Given the description of an element on the screen output the (x, y) to click on. 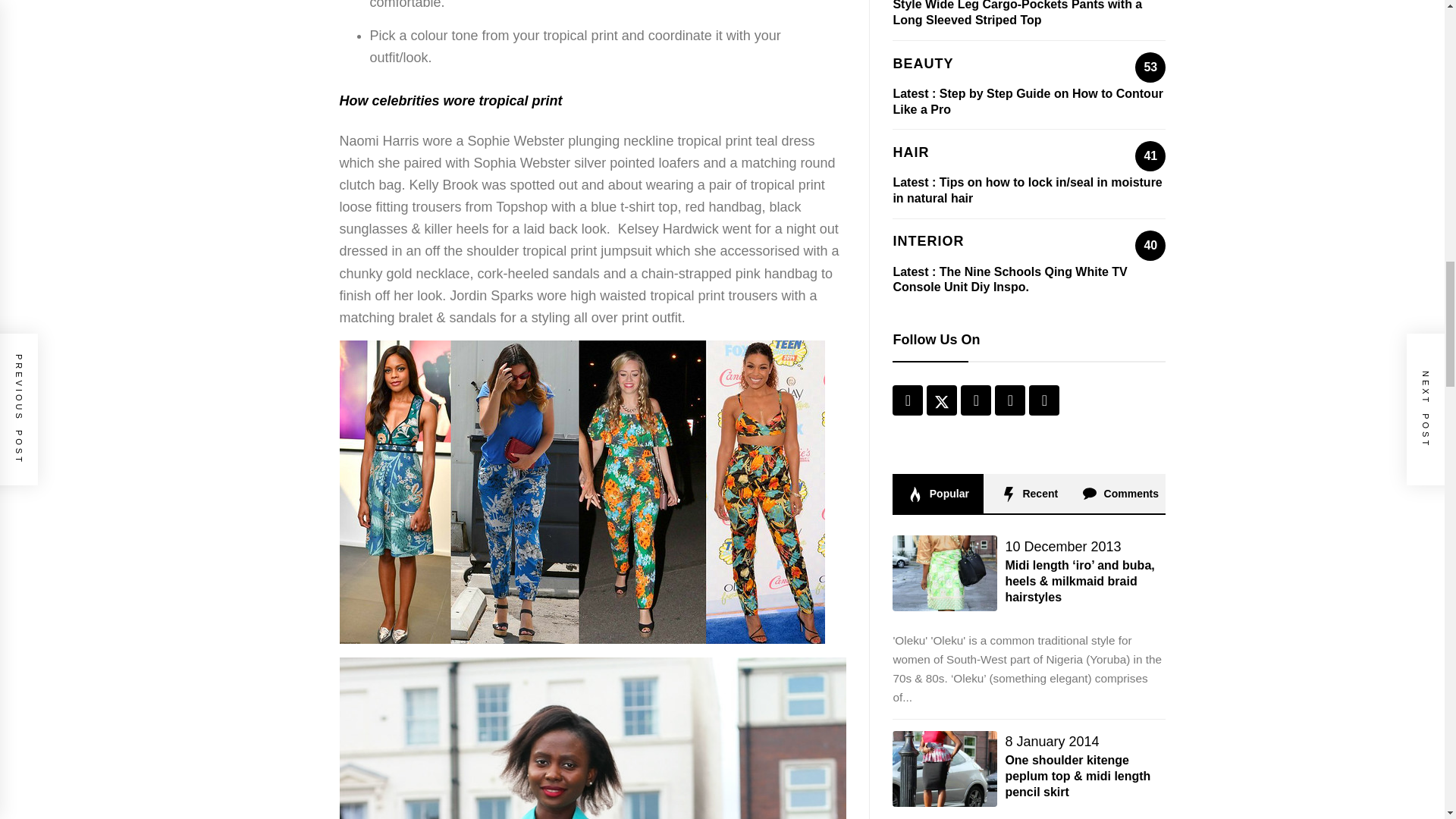
Green tropical print trousers, turquoise top, red heels 3 (593, 738)
